Given the description of an element on the screen output the (x, y) to click on. 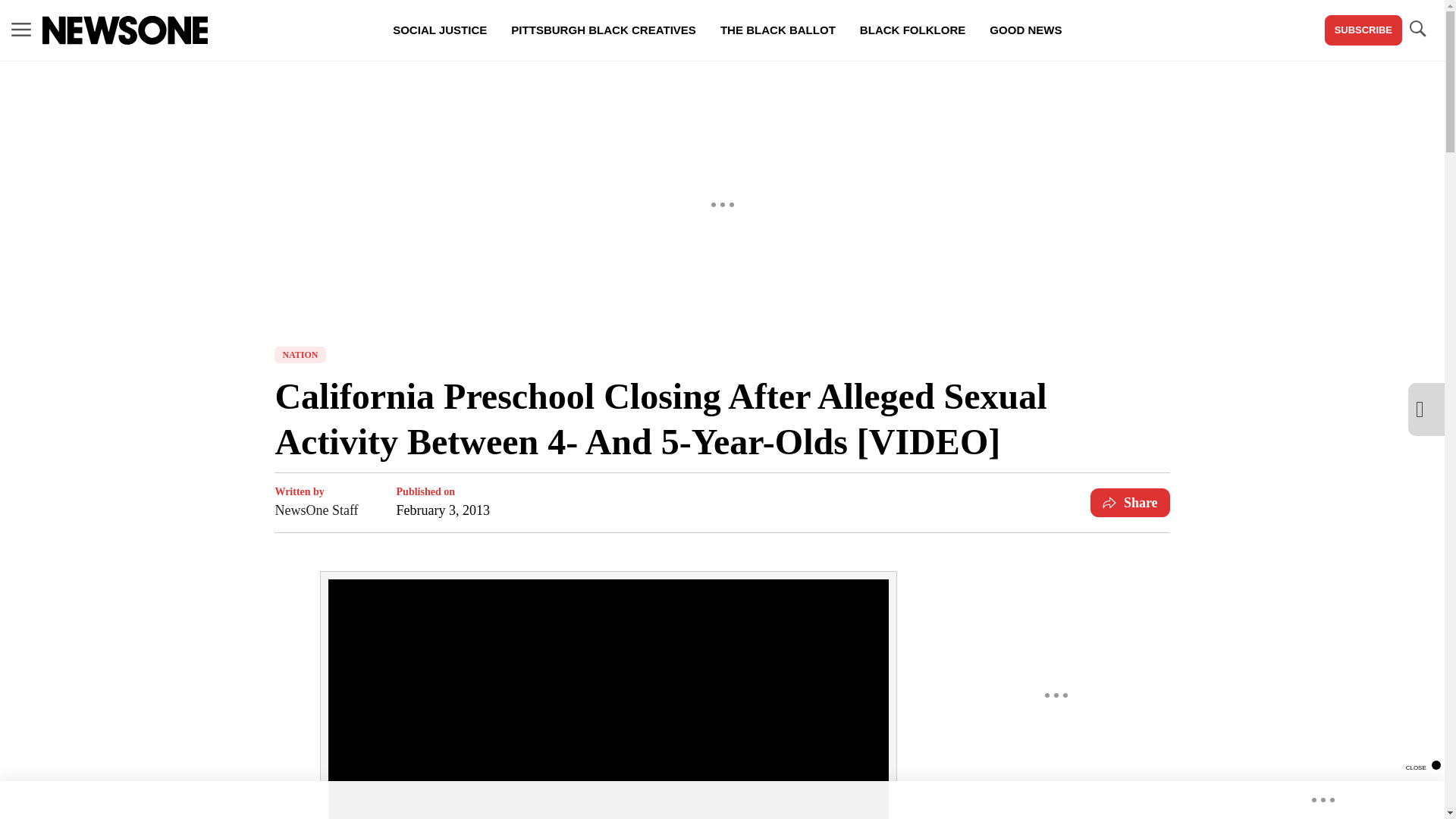
MENU (20, 30)
TOGGLE SEARCH (1417, 28)
NATION (299, 354)
THE BLACK BALLOT (777, 30)
GOOD NEWS (1025, 30)
PITTSBURGH BLACK CREATIVES (603, 30)
Share (1130, 502)
MENU (20, 29)
TOGGLE SEARCH (1417, 30)
NewsOne Staff (316, 509)
SUBSCRIBE (1363, 30)
SOCIAL JUSTICE (439, 30)
BLACK FOLKLORE (911, 30)
